Given the description of an element on the screen output the (x, y) to click on. 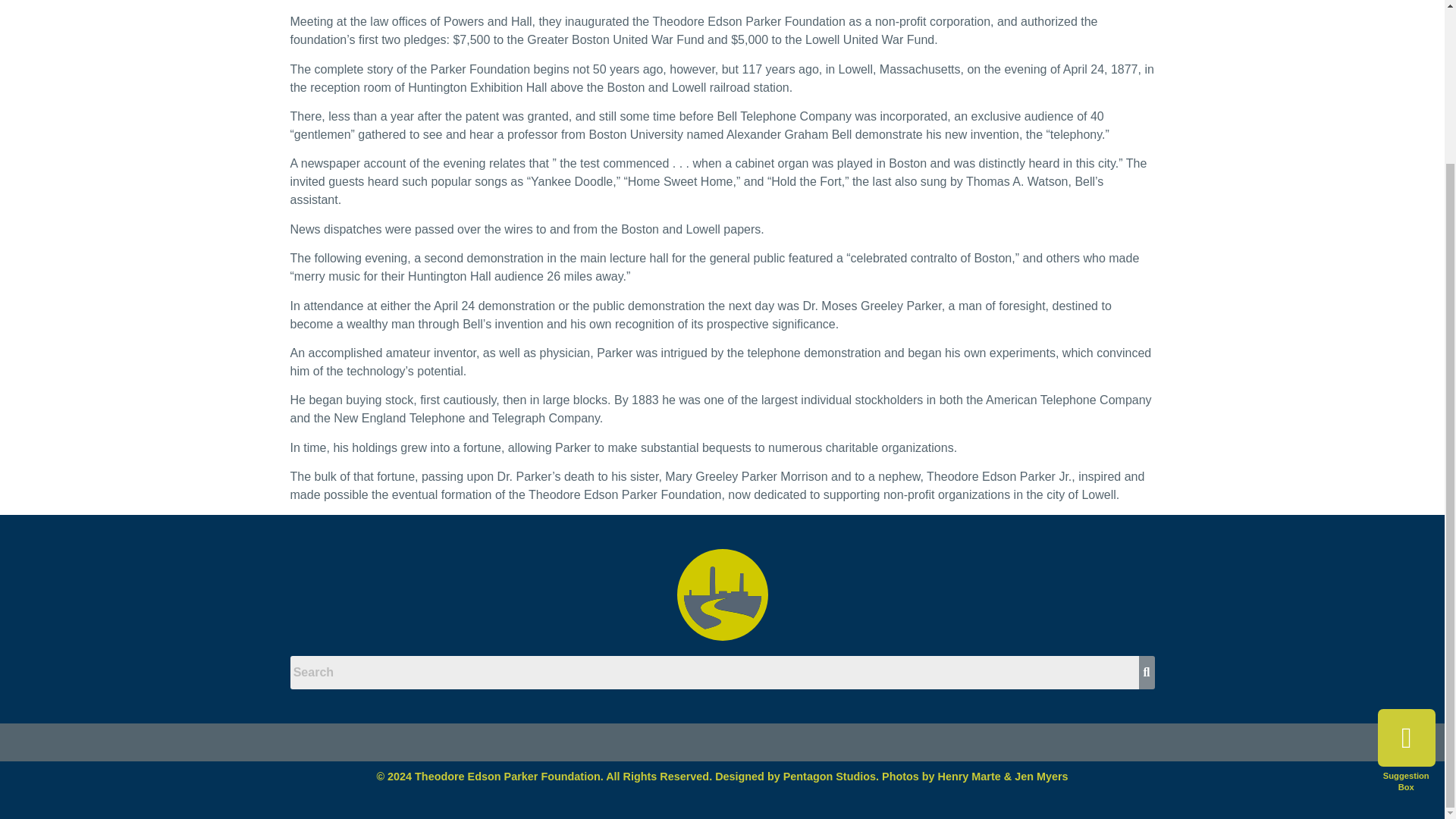
Pentagon Studios (829, 776)
Search (713, 699)
